Given the description of an element on the screen output the (x, y) to click on. 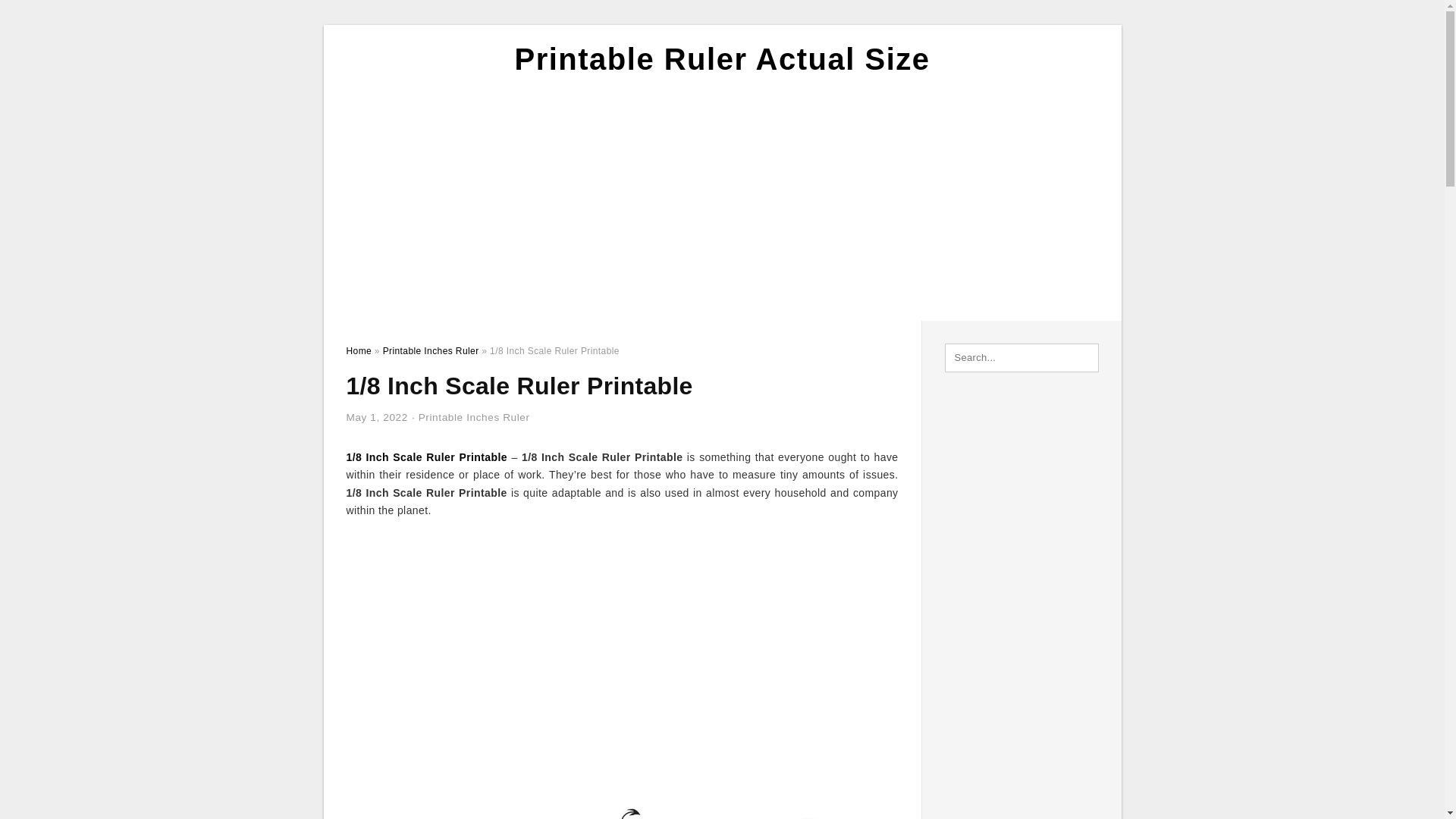
Home (358, 350)
Printable Ruler Actual Size (721, 59)
Printable Inches Ruler (430, 350)
Search (43, 15)
Printable Inches Ruler (474, 417)
7 sets of free printable rulers when you need one fast 450 (622, 791)
